Given the description of an element on the screen output the (x, y) to click on. 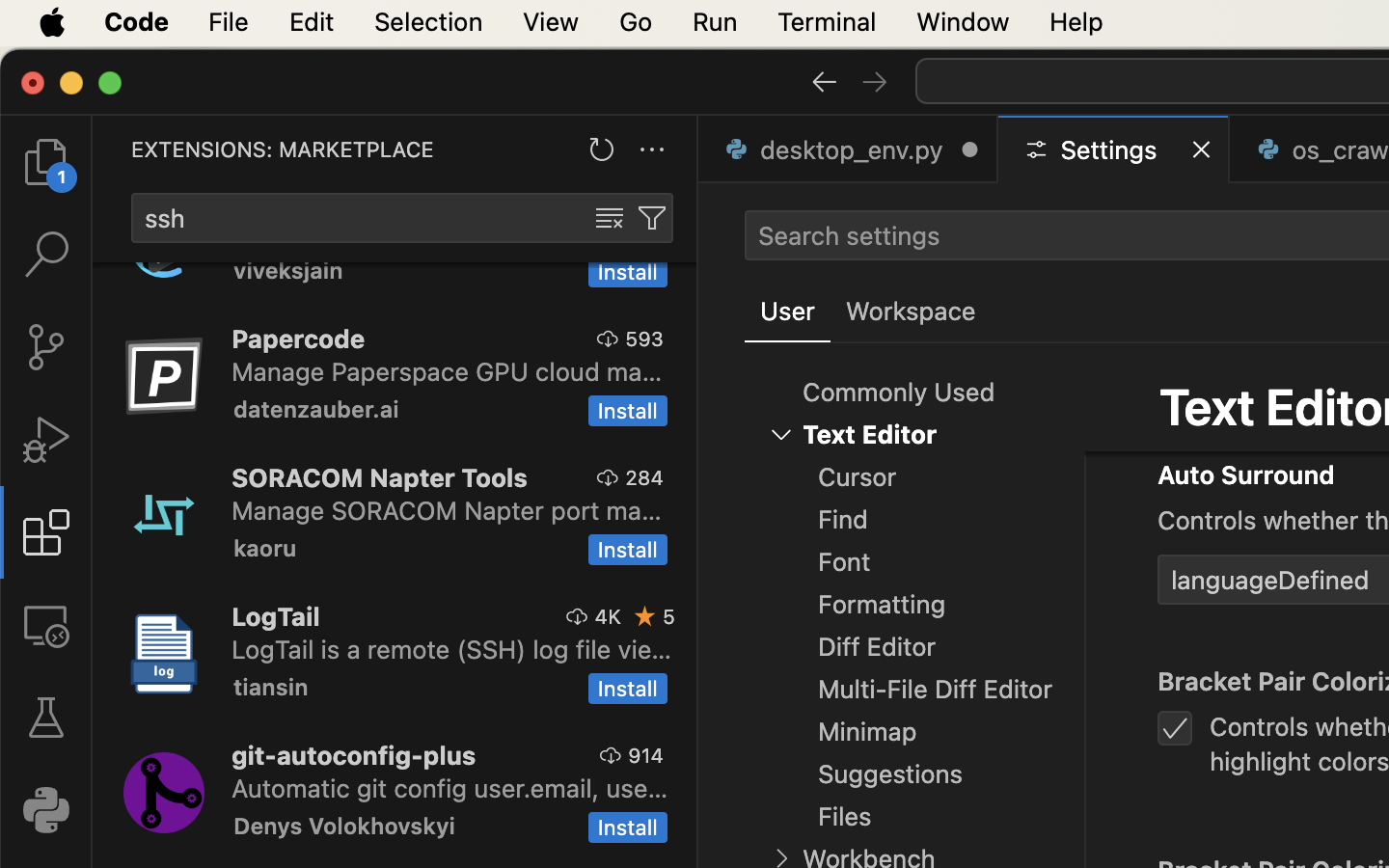
1 Settings   Element type: AXRadioButton (1114, 149)
Files Element type: AXStaticText (844, 816)
914 Element type: AXStaticText (645, 754)
0  Element type: AXRadioButton (46, 346)
Automatic git config user.email, user.name, SSH key setting for vscode Element type: AXStaticText (450, 787)
